Given the description of an element on the screen output the (x, y) to click on. 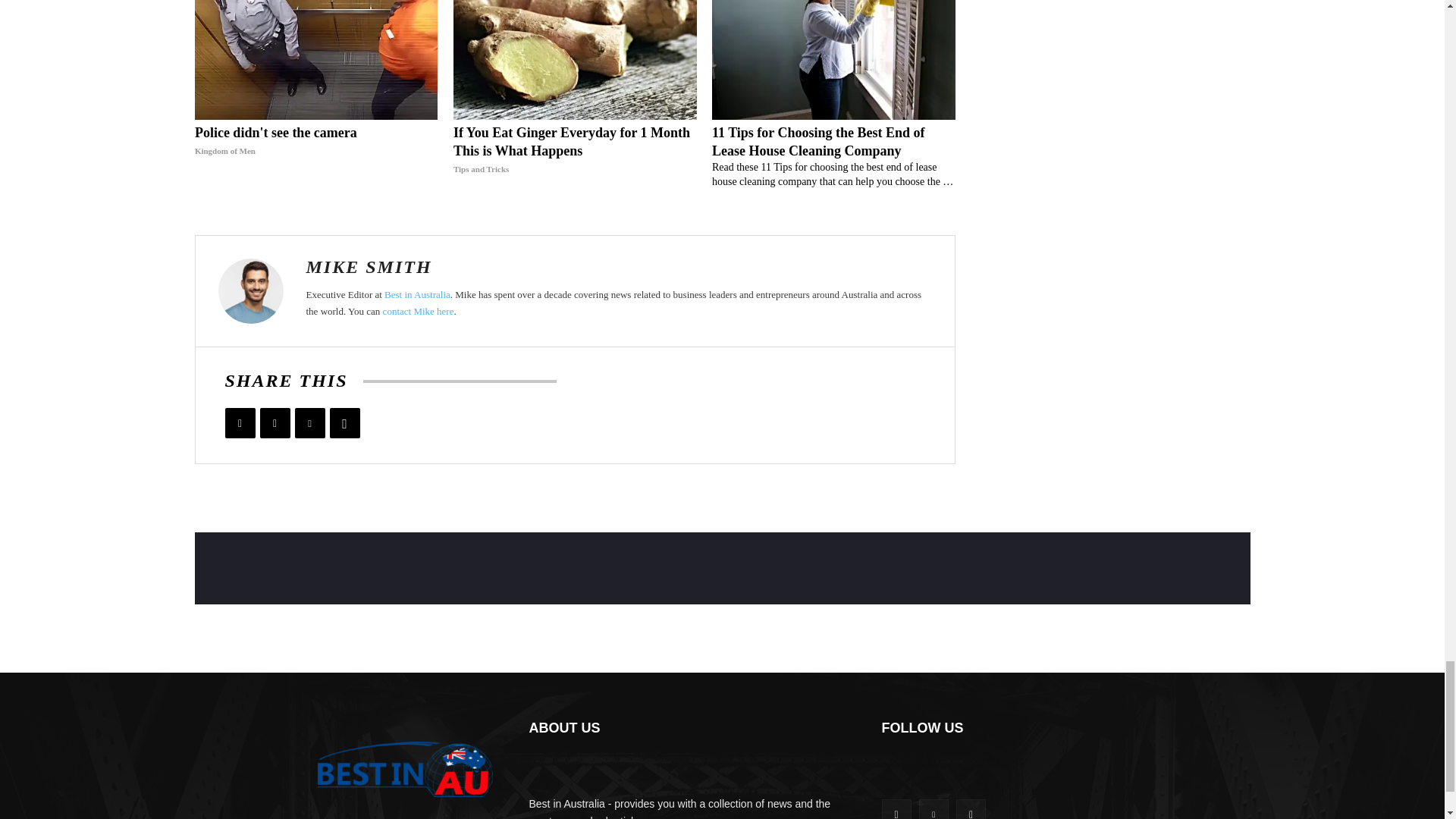
Police didn't see the camera (316, 141)
If You Eat Ginger Everyday for 1 Month This is What Happens (574, 150)
